Given the description of an element on the screen output the (x, y) to click on. 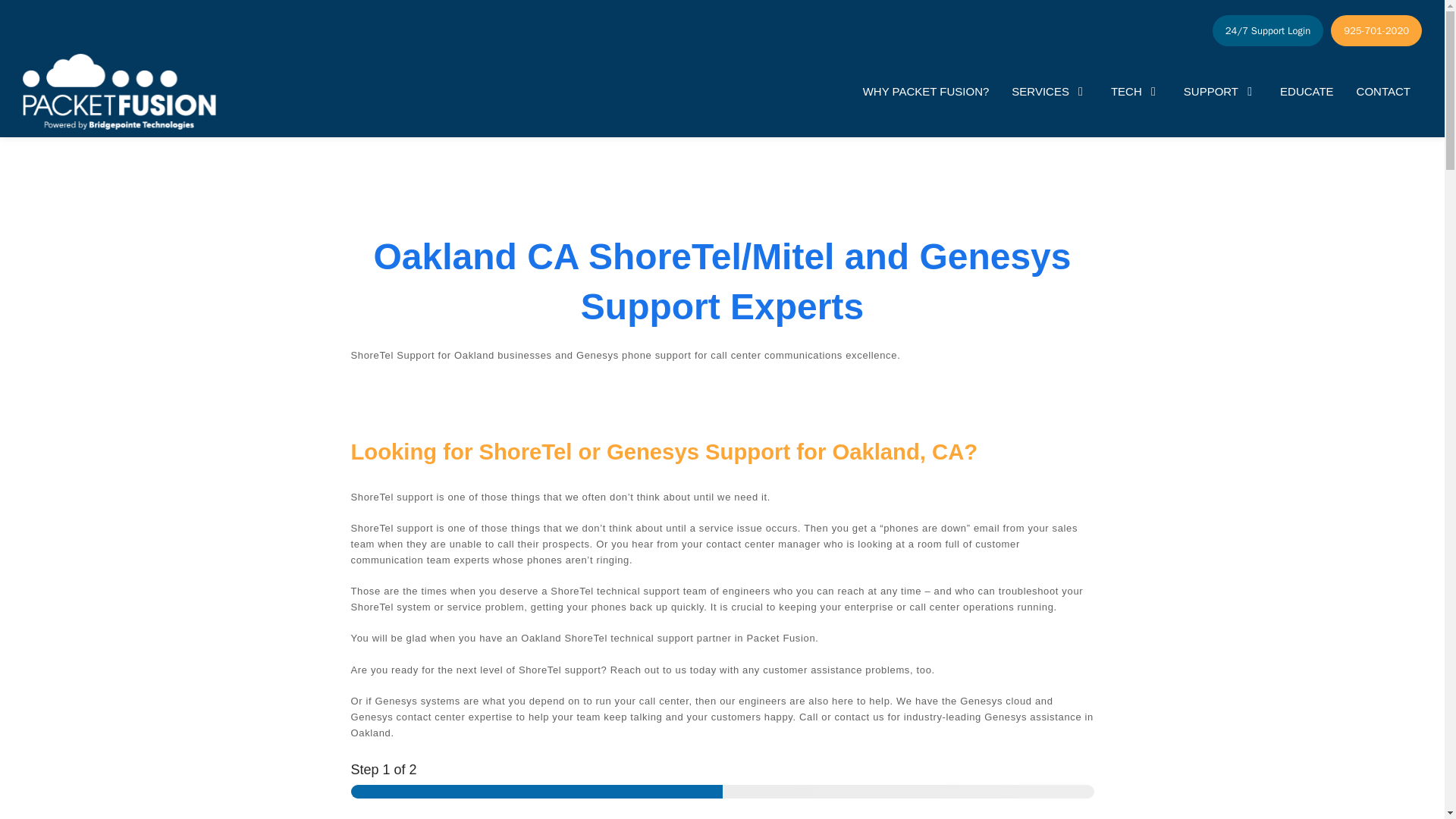
WHY PACKET FUSION? (926, 91)
EDUCATE (1306, 91)
925-701-2020 (1376, 30)
SERVICES (1049, 91)
SUPPORT (1220, 91)
CONTACT (1383, 91)
TECH (1135, 91)
